Given the description of an element on the screen output the (x, y) to click on. 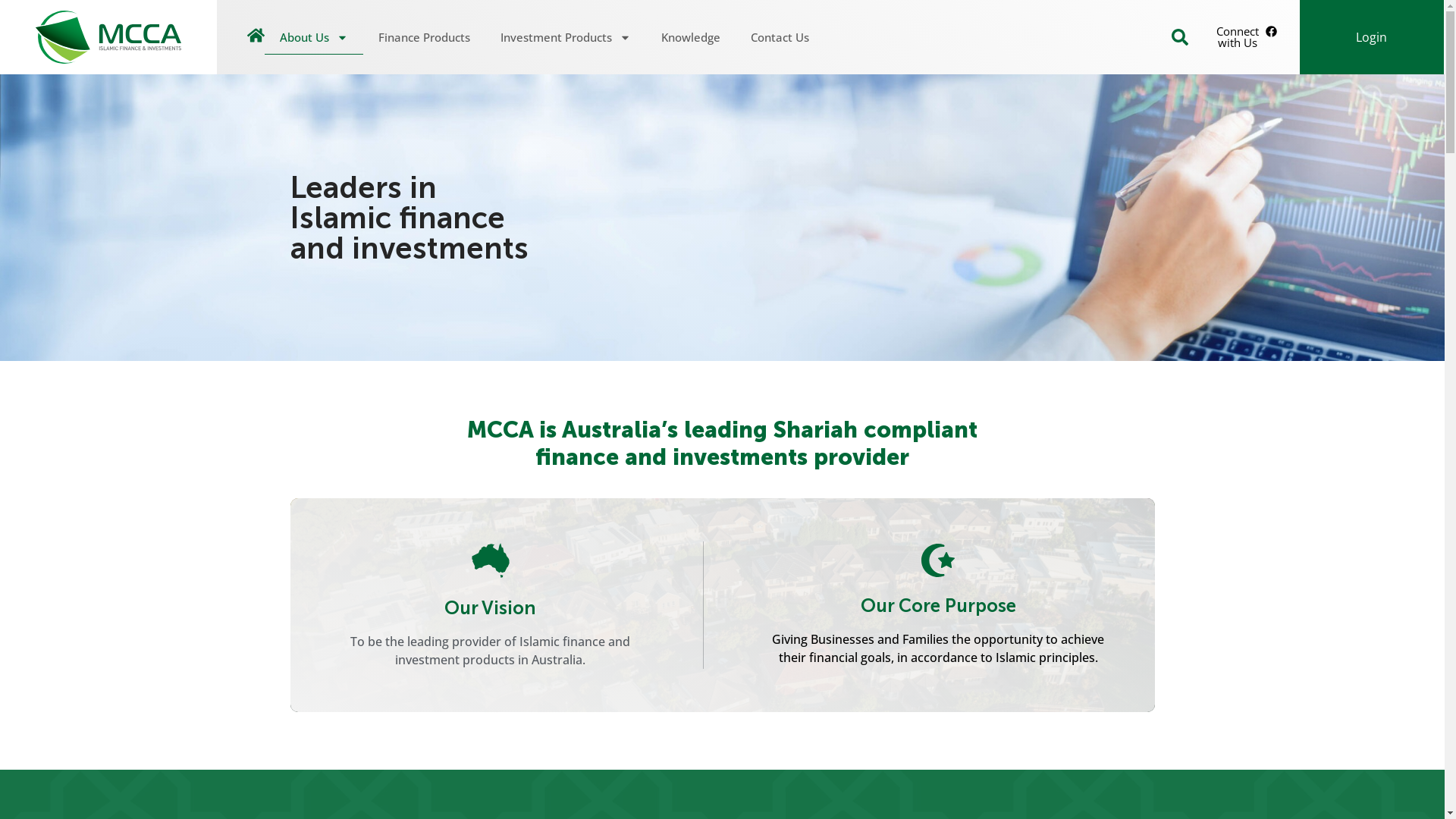
Connect
with Us Element type: text (1246, 36)
Contact Us Element type: text (779, 36)
Finance Products Element type: text (424, 36)
About Us Element type: text (313, 36)
Knowledge Element type: text (690, 36)
Investment Products Element type: text (565, 36)
